Given the description of an element on the screen output the (x, y) to click on. 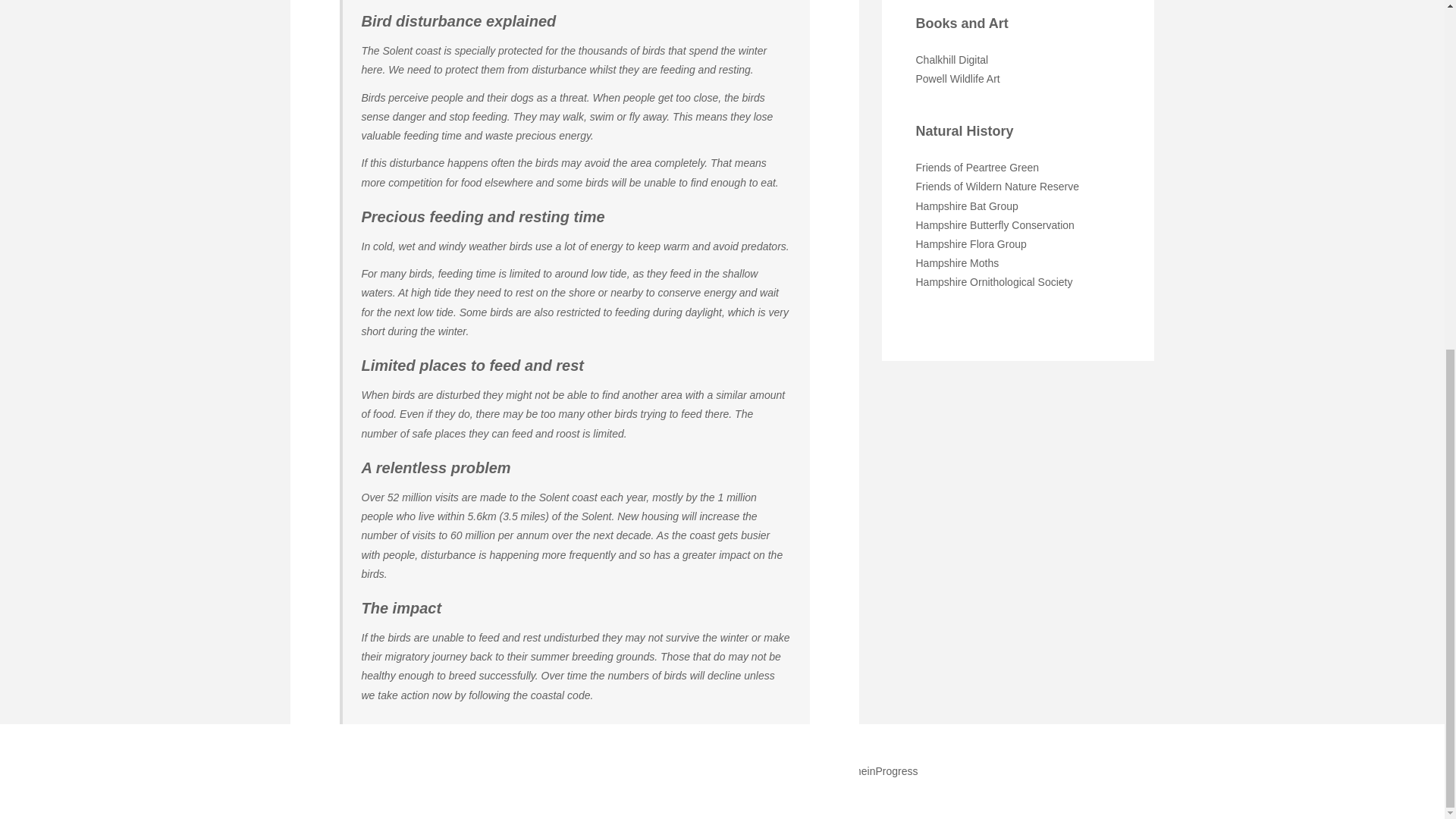
the coastal code. (552, 695)
